Given the description of an element on the screen output the (x, y) to click on. 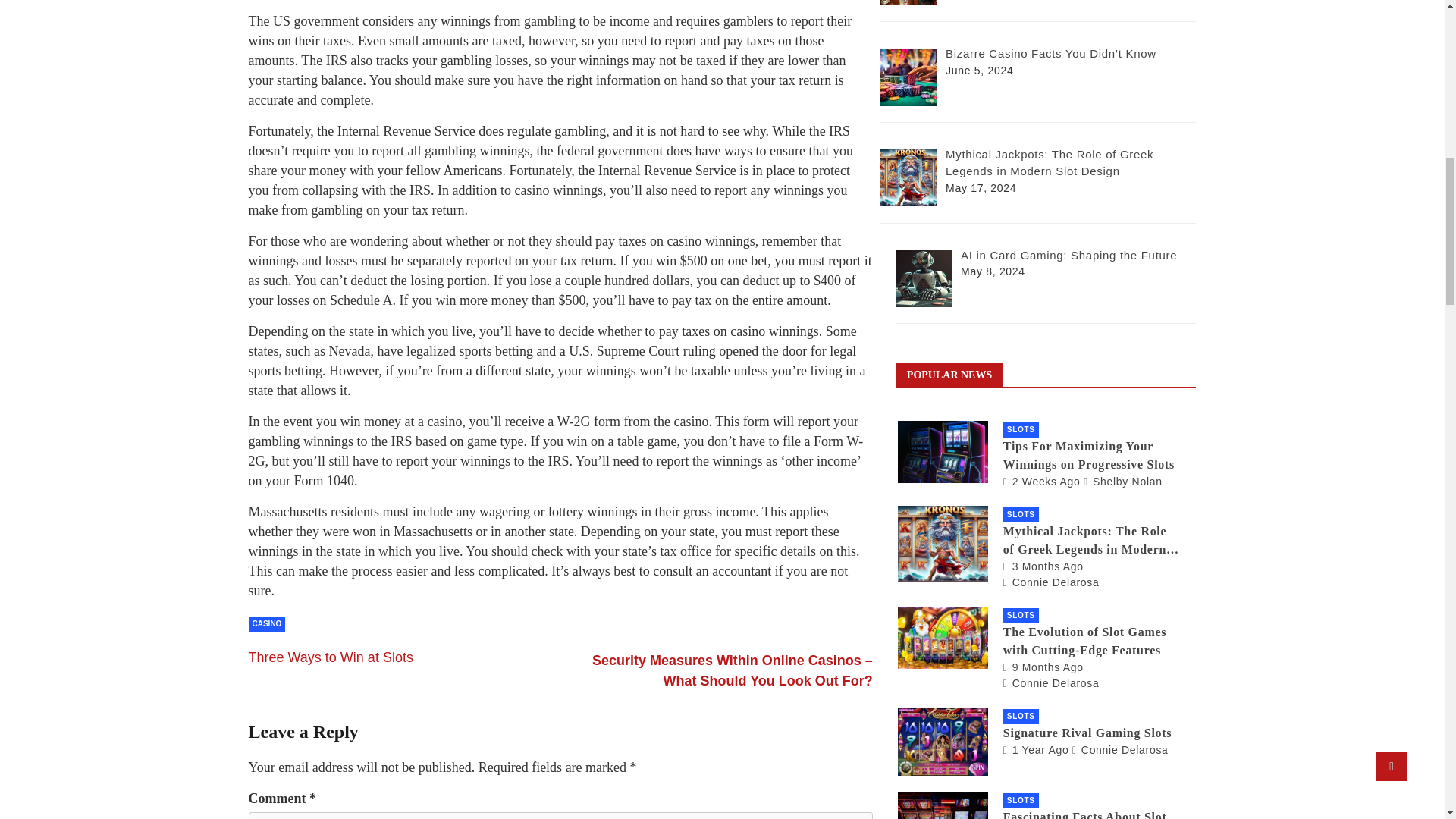
The Evolution of Slot Games with Cutting-Edge Features (1043, 666)
Tips For Maximizing Your Winnings on Progressive Slots (1041, 481)
CASINO (266, 623)
Signature Rival Gaming Slots (1035, 749)
Three Ways to Win at Slots (330, 657)
